Given the description of an element on the screen output the (x, y) to click on. 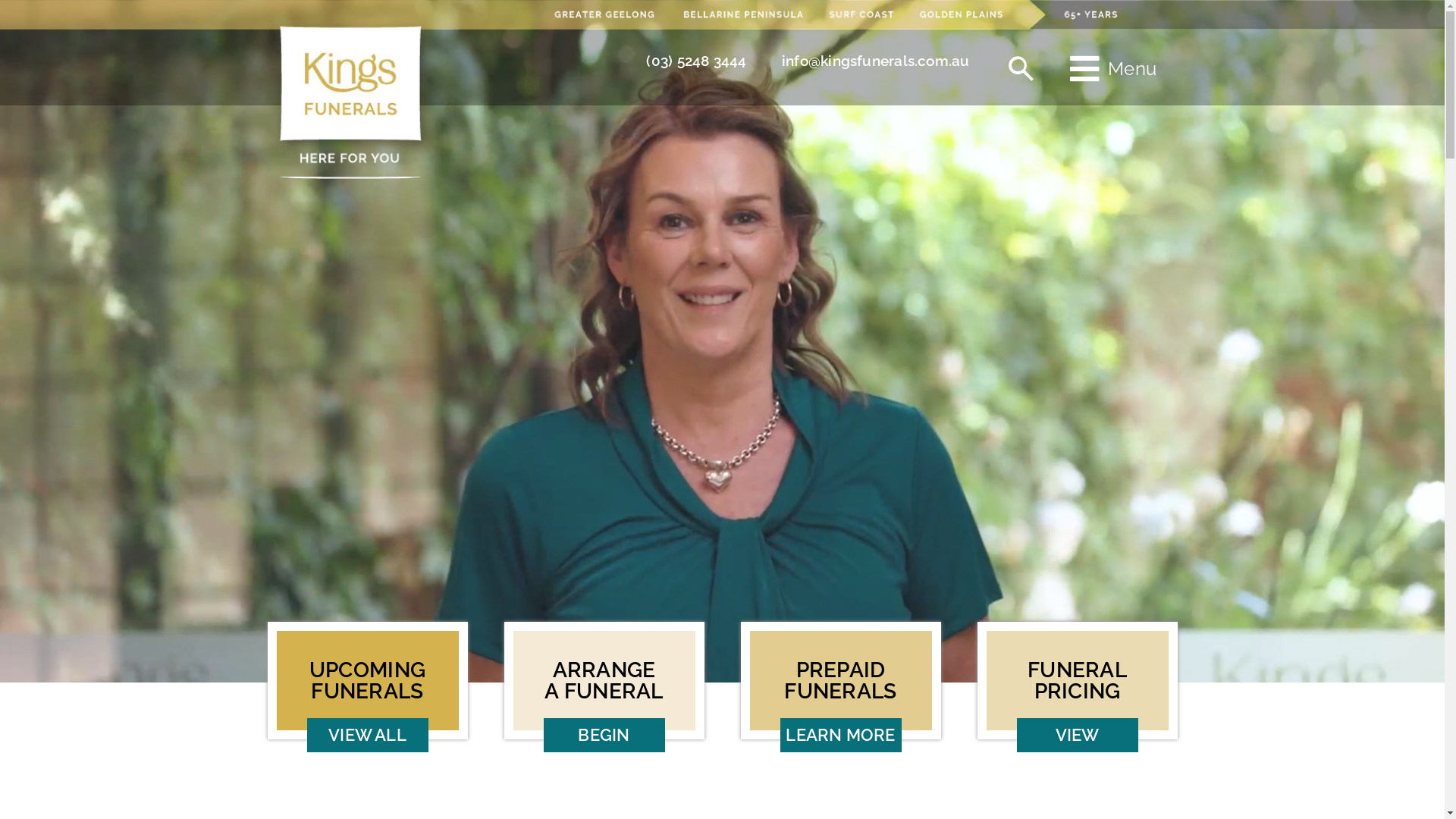
info@kingsfunerals.com.au Element type: text (875, 60)
LEARN MORE Element type: text (839, 735)
VIEW ALL Element type: text (366, 735)
BEGIN Element type: text (603, 735)
ARRANGE
A FUNERAL Element type: text (603, 680)
FUNERAL
PRICING Element type: text (1076, 680)
VIEW Element type: text (1076, 735)
UPCOMING FUNERALS Element type: text (366, 680)
(03) 5248 3444 Element type: text (696, 60)
Menu Element type: text (1112, 69)
PREPAID FUNERALS Element type: text (840, 680)
